Given the description of an element on the screen output the (x, y) to click on. 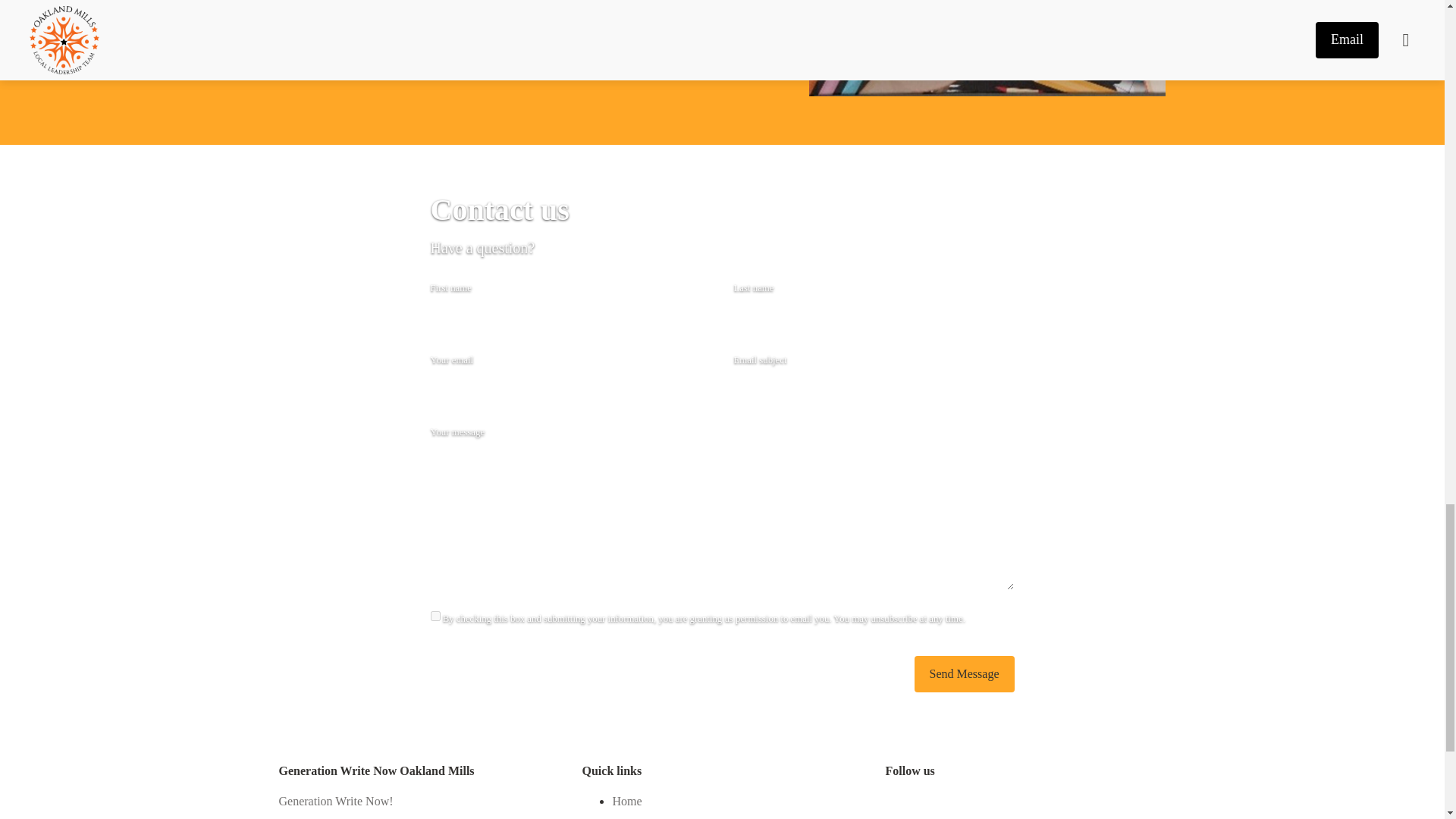
Home (626, 801)
false (435, 615)
Middle School (647, 816)
Send Message (964, 674)
